Given the description of an element on the screen output the (x, y) to click on. 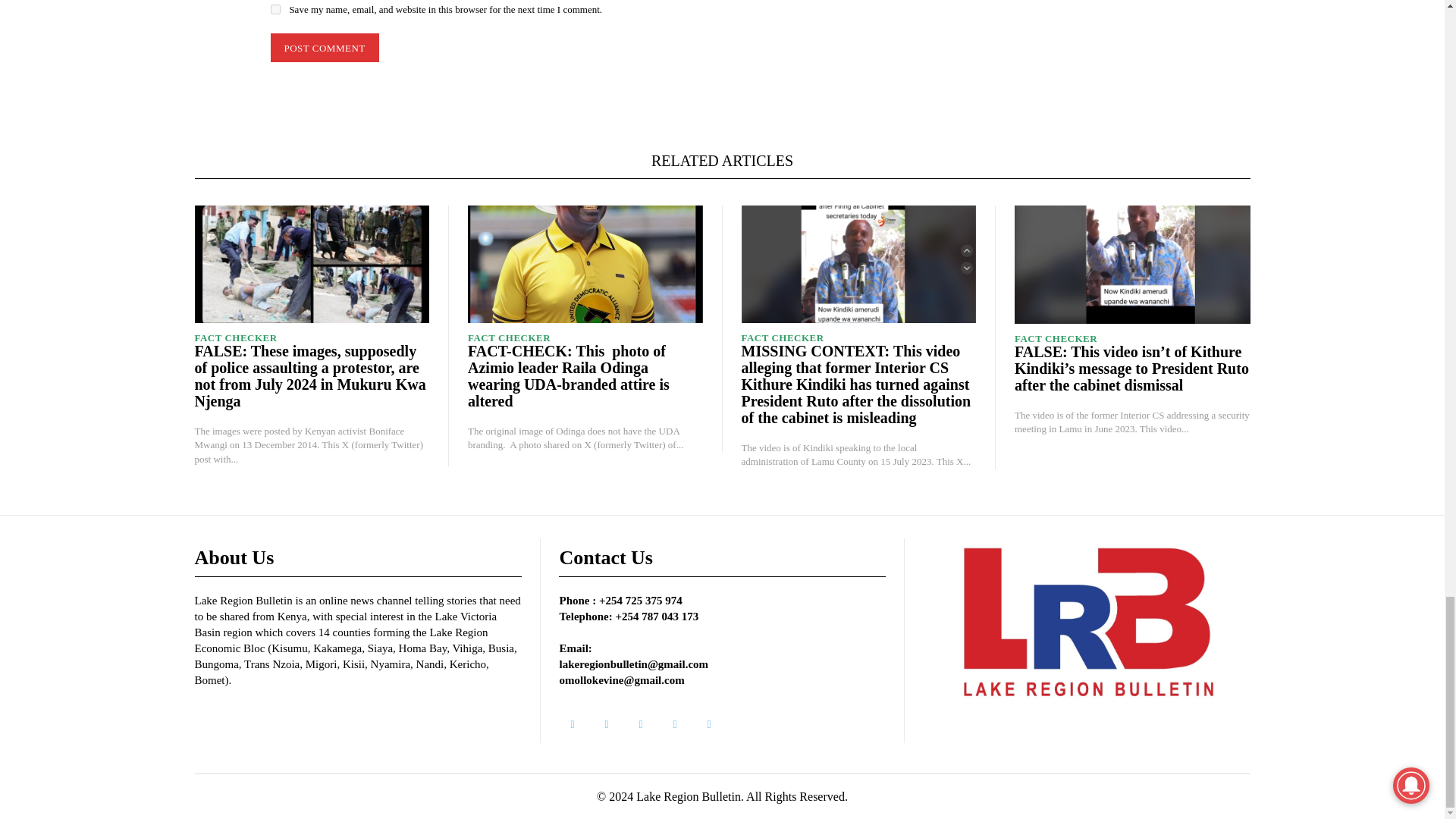
Post Comment (323, 48)
yes (274, 9)
